Given the description of an element on the screen output the (x, y) to click on. 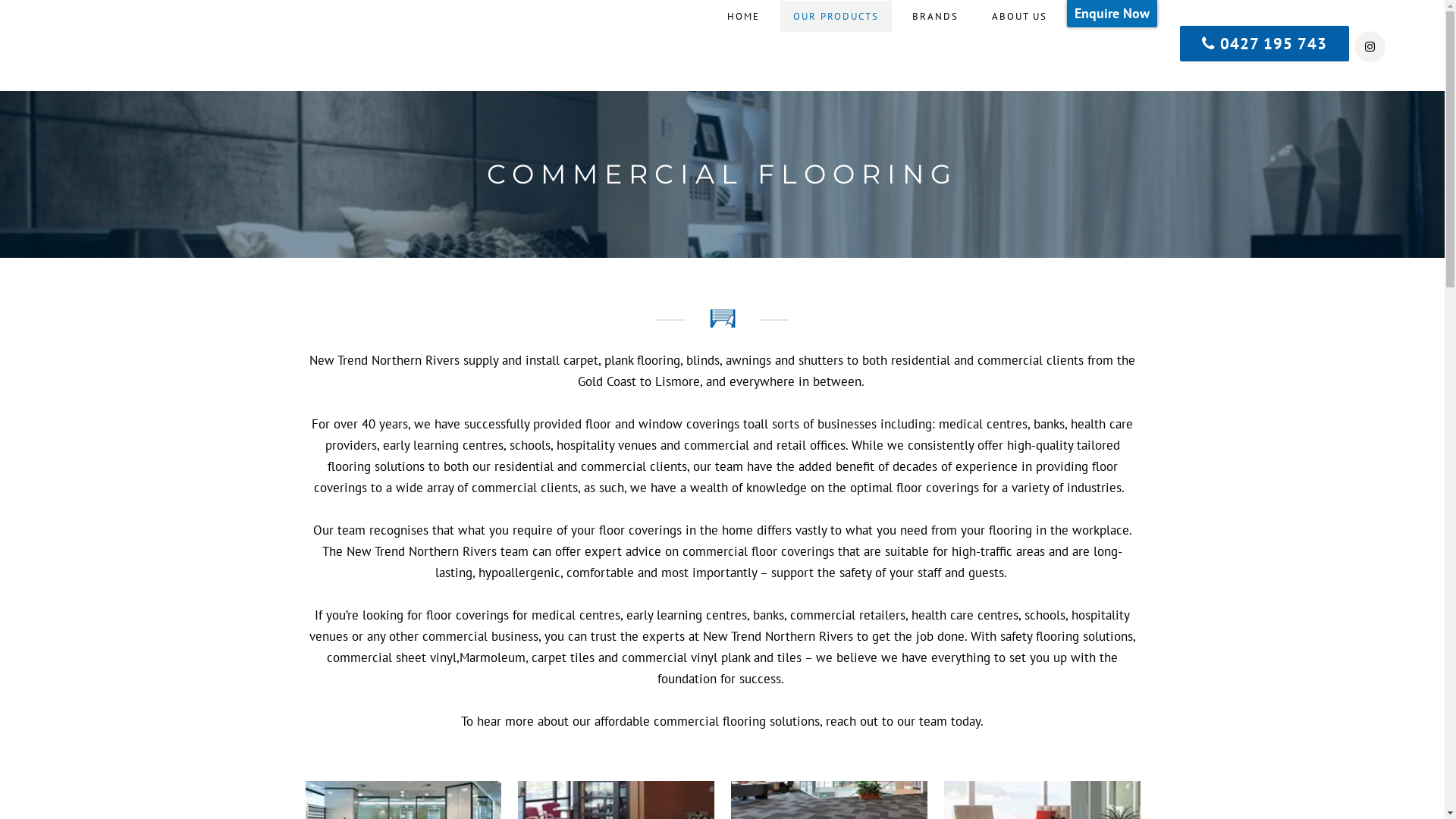
0427 195 743 Element type: text (1264, 43)
CONTACT Element type: text (1105, 16)
ABOUT US Element type: text (1019, 16)
BRANDS Element type: text (935, 16)
HOME Element type: text (743, 16)
OUR PRODUCTS Element type: text (835, 16)
